Given the description of an element on the screen output the (x, y) to click on. 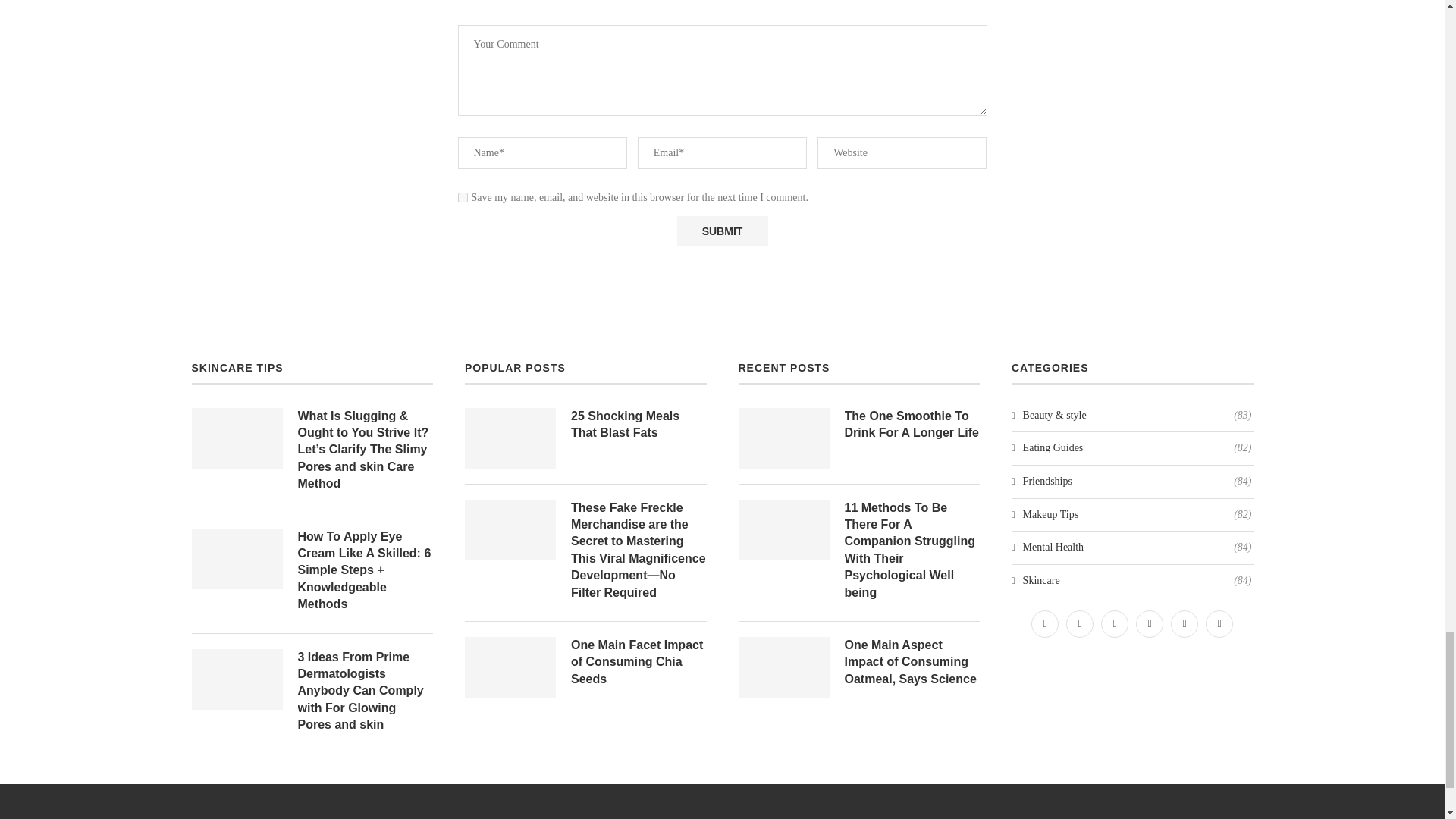
yes (462, 197)
Submit (722, 231)
